Given the description of an element on the screen output the (x, y) to click on. 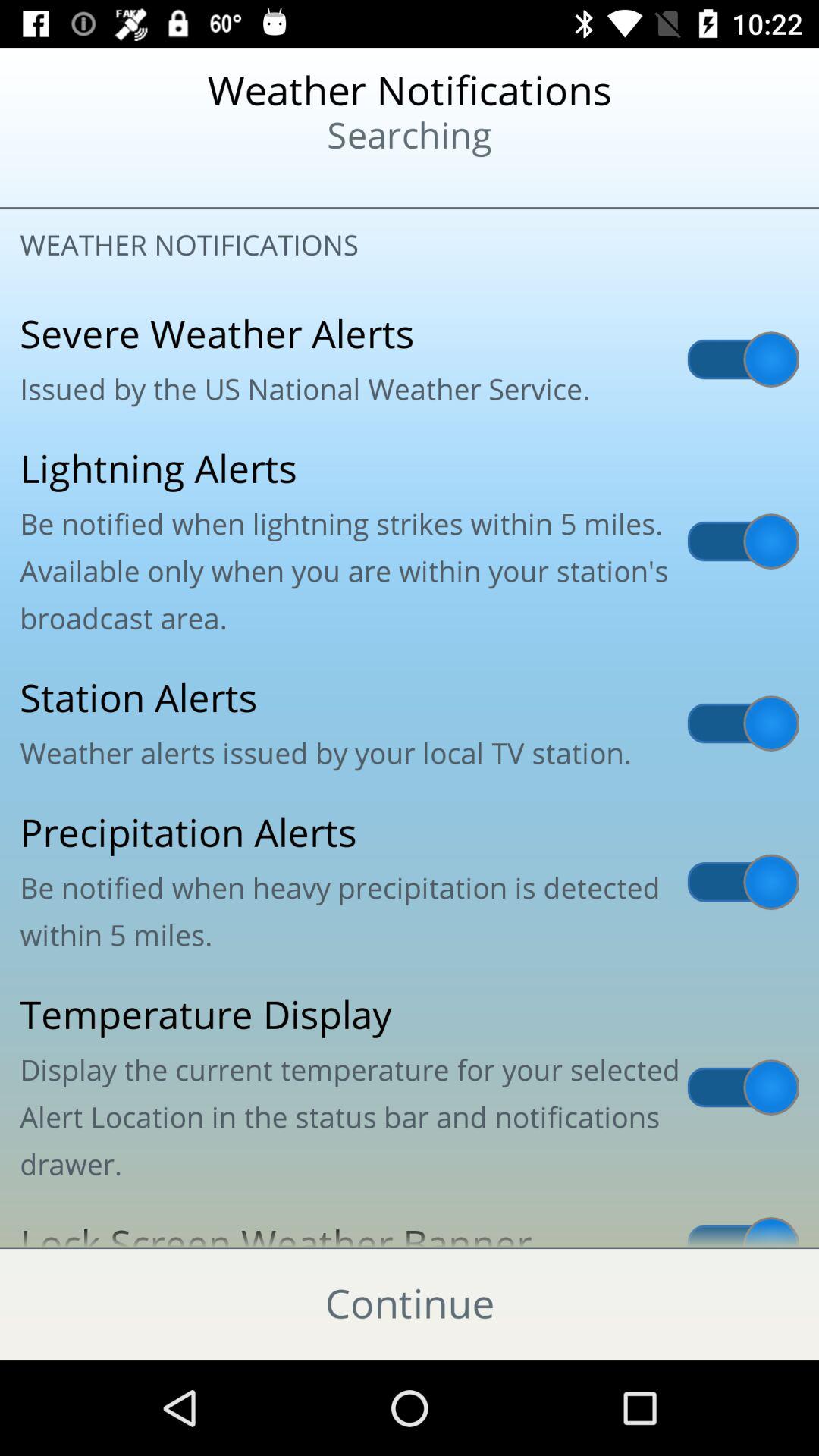
tap the lock screen weather (409, 1224)
